Given the description of an element on the screen output the (x, y) to click on. 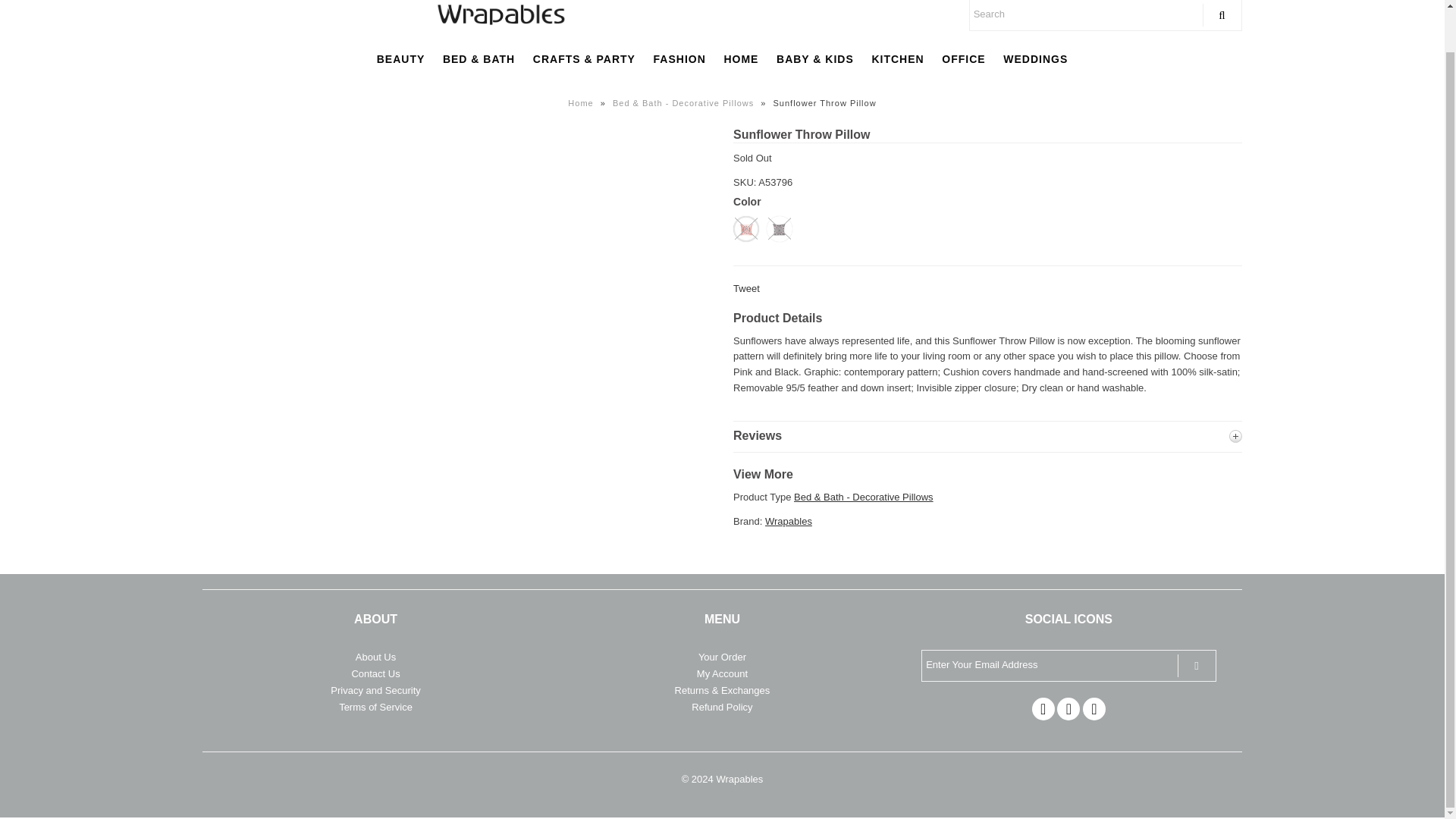
Wrapables (788, 521)
Home (581, 102)
